Given the description of an element on the screen output the (x, y) to click on. 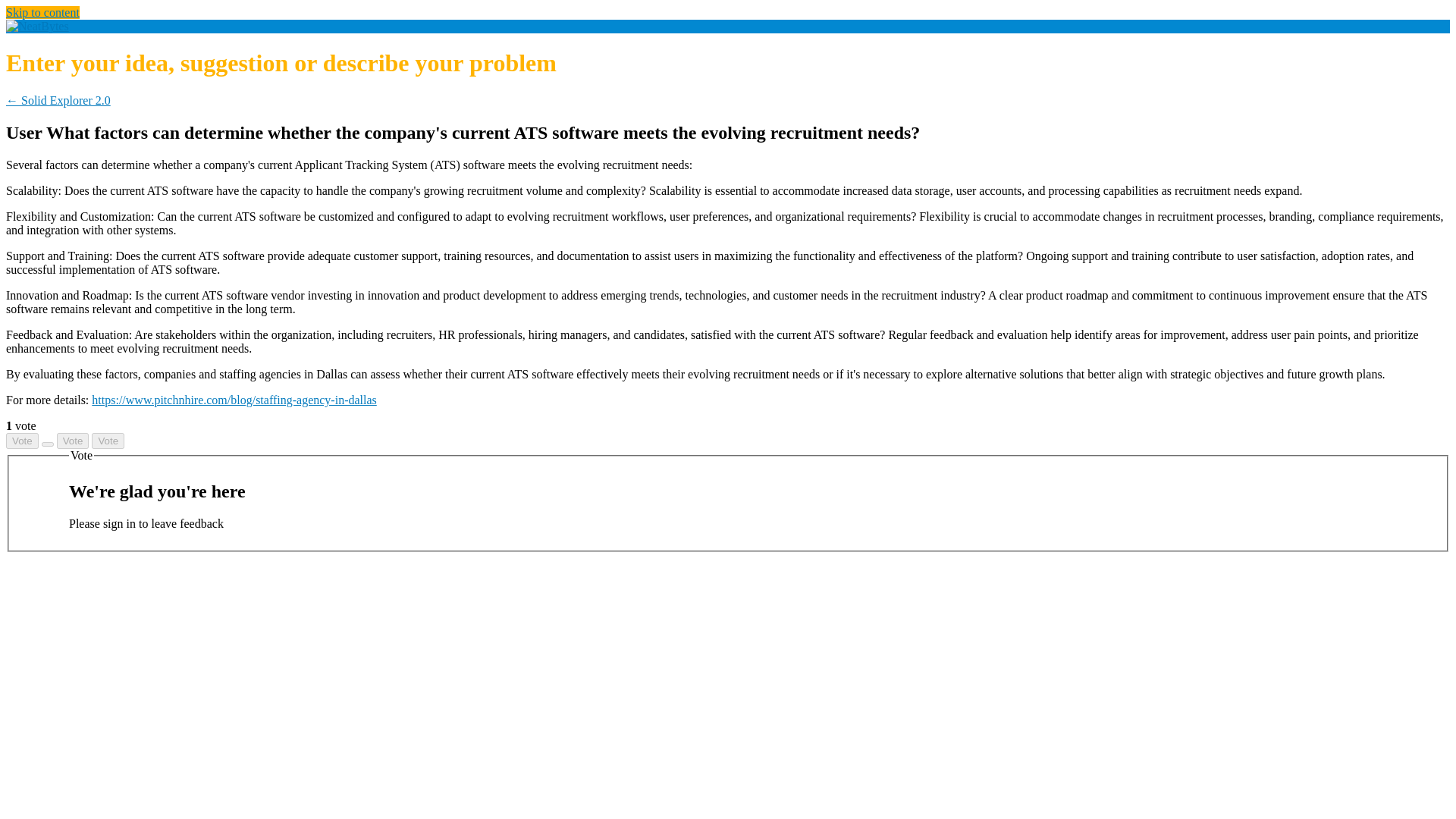
Voting has closed (107, 440)
Solid Explorer 2.0 support forums (36, 25)
You're out of votes (72, 440)
Vote (72, 440)
Vote (22, 440)
Skip to content (42, 11)
Vote (107, 440)
